Given the description of an element on the screen output the (x, y) to click on. 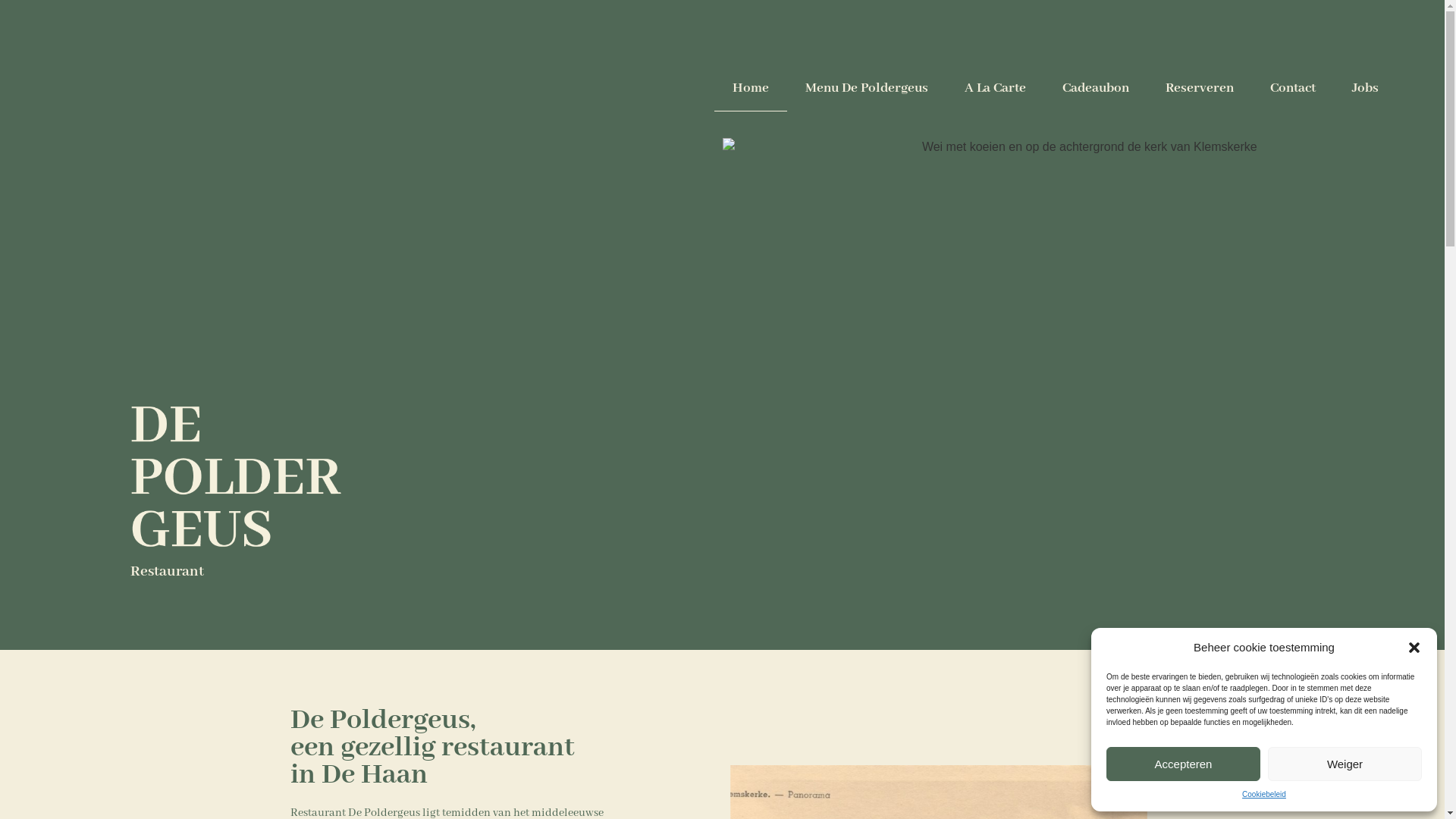
Reserveren Element type: text (1199, 87)
Weiger Element type: text (1344, 763)
Cadeaubon Element type: text (1095, 87)
Contact Element type: text (1292, 87)
Home Element type: text (750, 87)
Menu De Poldergeus Element type: text (866, 87)
Cookiebeleid Element type: text (1264, 794)
Jobs Element type: text (1364, 87)
Accepteren Element type: text (1183, 763)
A La Carte Element type: text (995, 87)
